Given the description of an element on the screen output the (x, y) to click on. 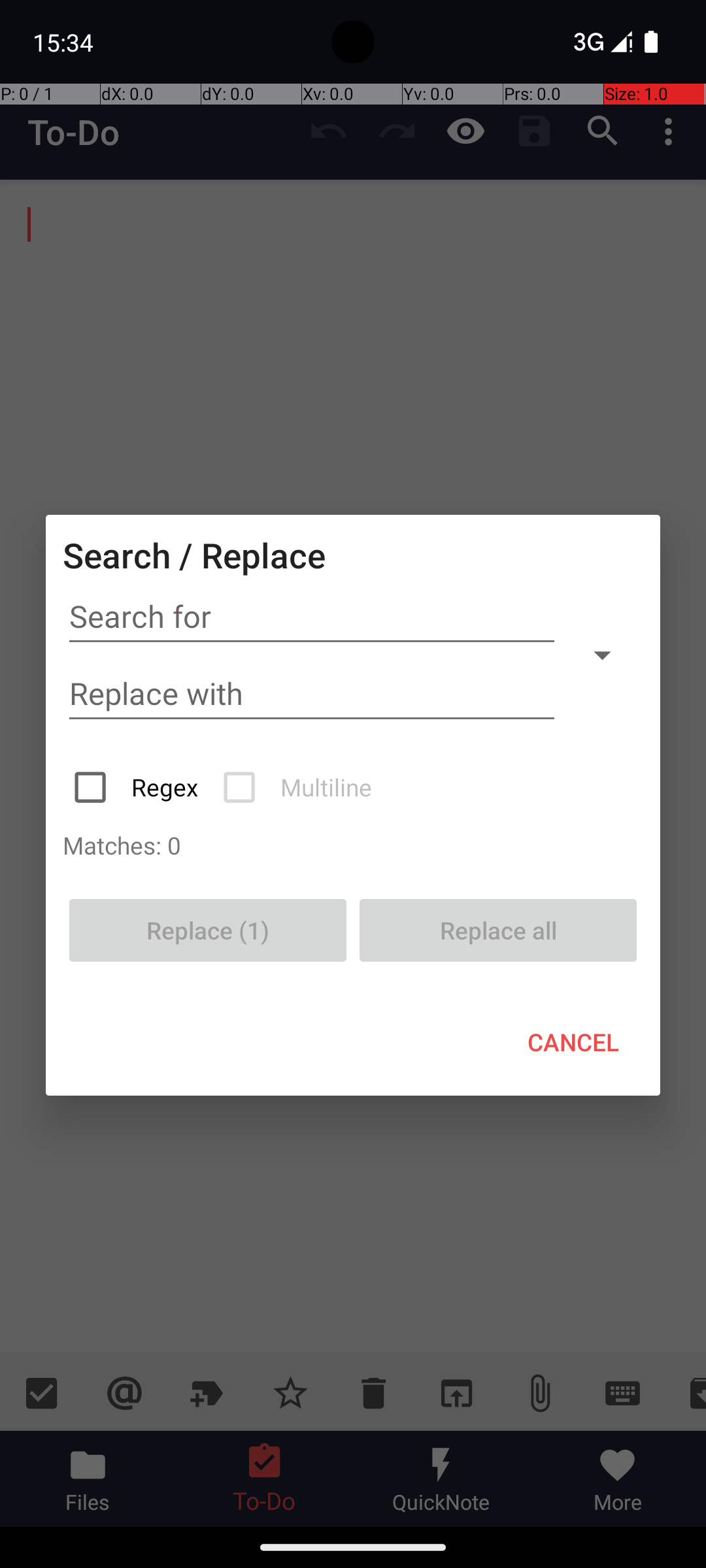
Search / Replace Element type: android.widget.TextView (193, 554)
Search for Element type: android.widget.EditText (311, 616)
Replace with Element type: android.widget.EditText (311, 693)
Regex Element type: android.widget.CheckBox (136, 786)
Multiline Element type: android.widget.CheckBox (298, 786)
Matches: 0 Element type: android.widget.TextView (352, 844)
Replace (1) Element type: android.widget.Button (207, 930)
Replace all Element type: android.widget.Button (498, 930)
